Given the description of an element on the screen output the (x, y) to click on. 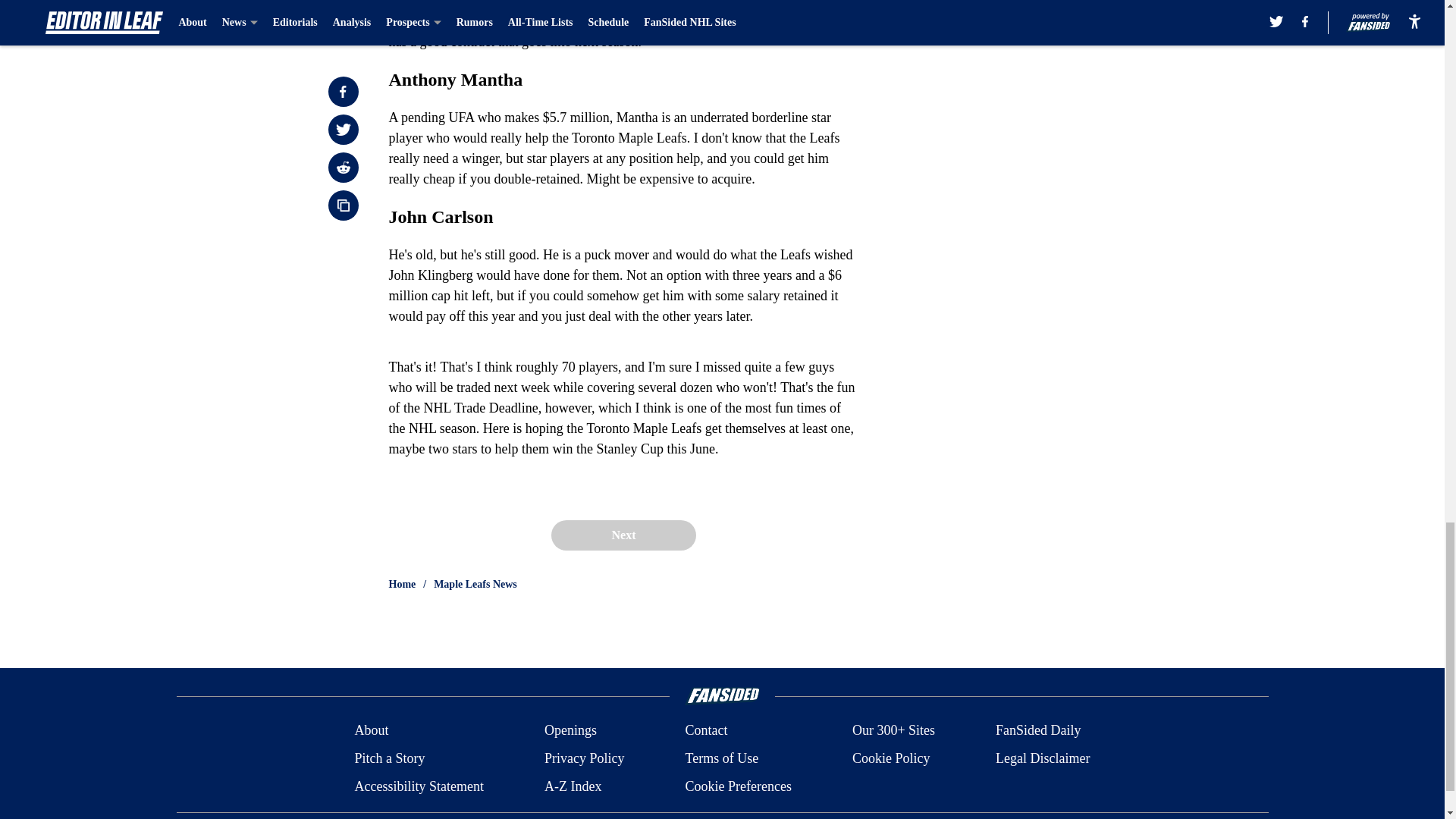
Privacy Policy (584, 758)
About (370, 730)
Contact (705, 730)
Home (401, 584)
Cookie Policy (890, 758)
Openings (570, 730)
Terms of Use (721, 758)
FanSided Daily (1038, 730)
Pitch a Story (389, 758)
Next (622, 535)
